Given the description of an element on the screen output the (x, y) to click on. 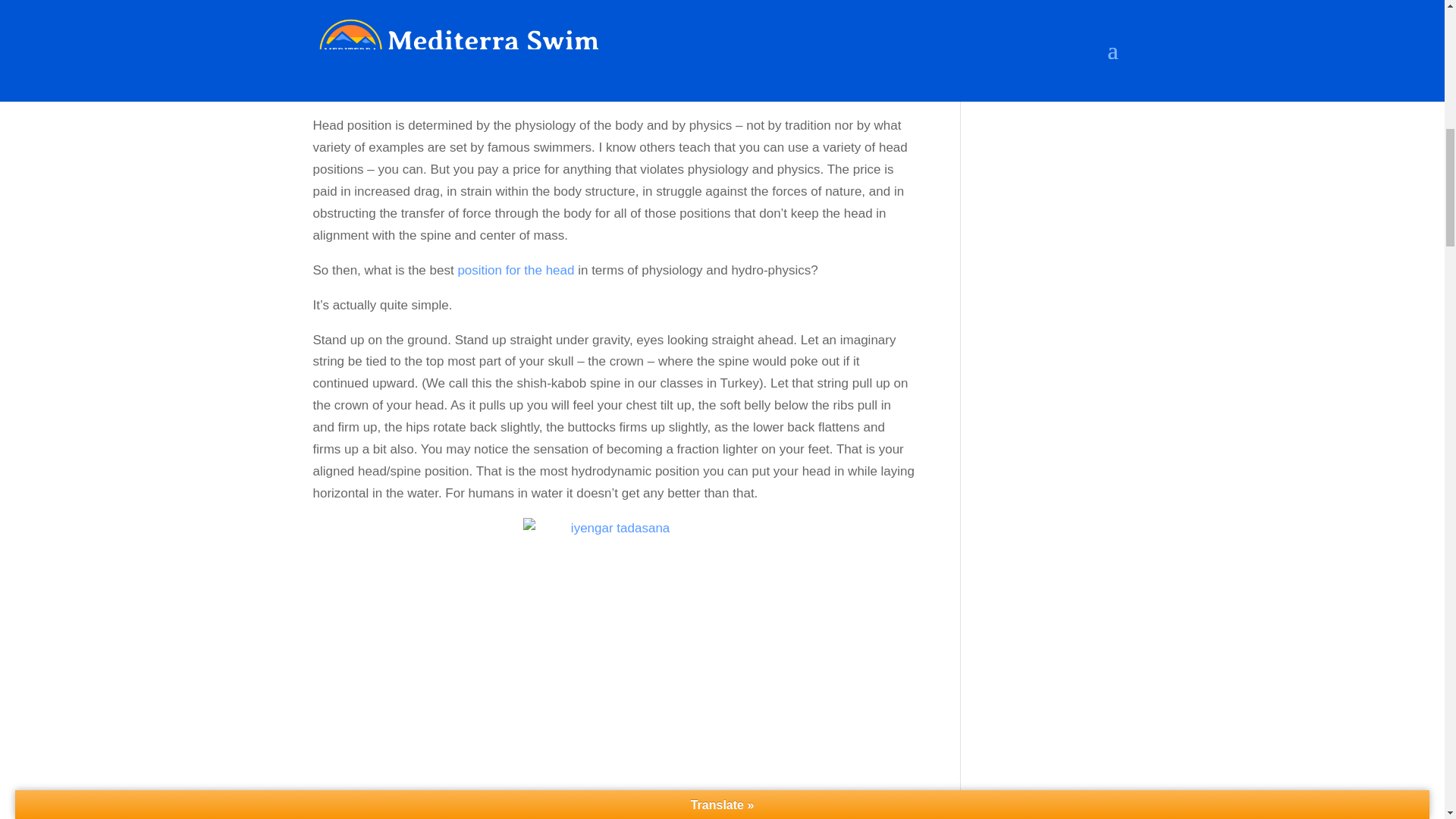
position for the head (515, 269)
Best Head Position? (515, 269)
